Given the description of an element on the screen output the (x, y) to click on. 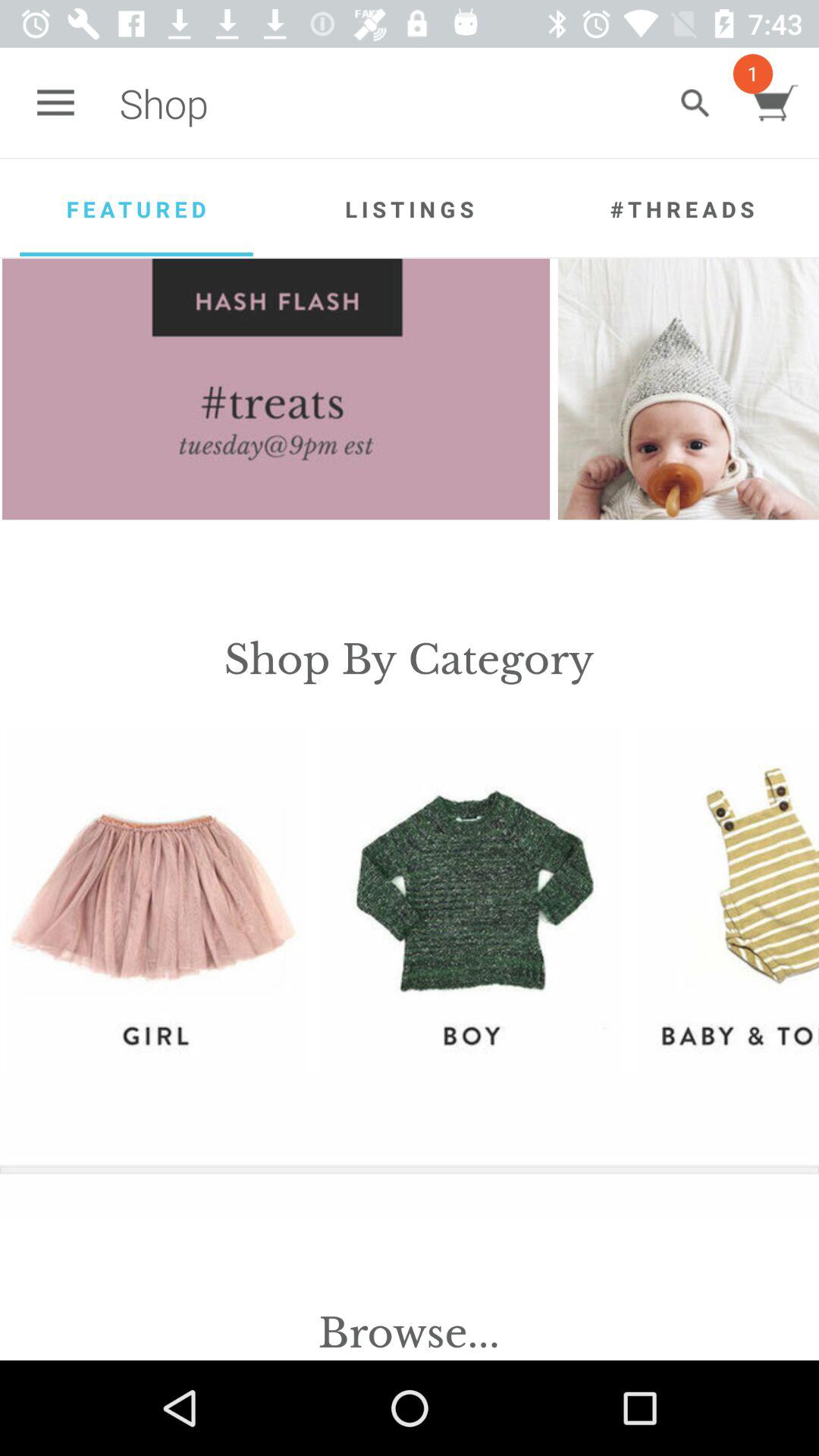
search (695, 103)
